Given the description of an element on the screen output the (x, y) to click on. 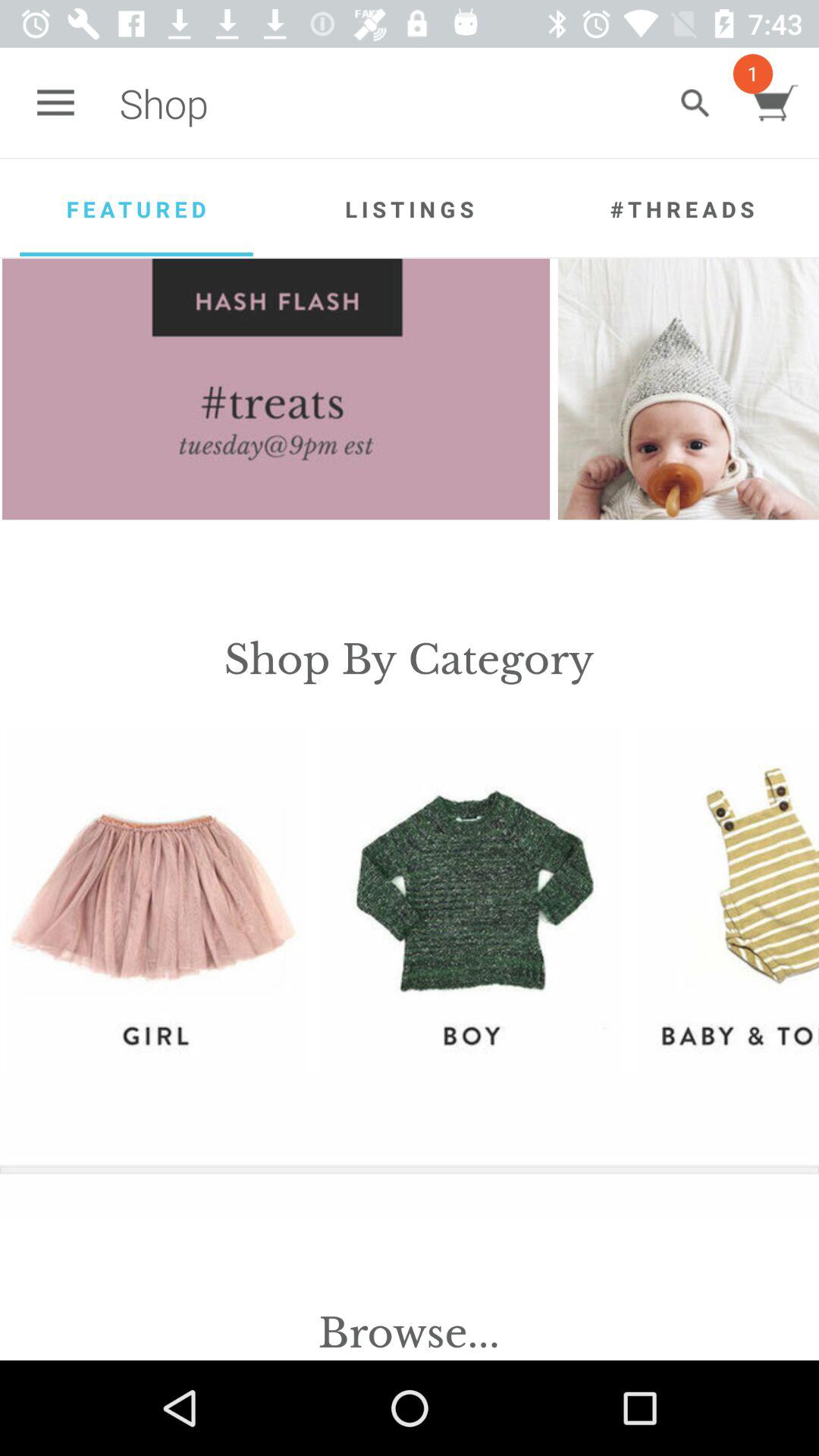
search (695, 103)
